Given the description of an element on the screen output the (x, y) to click on. 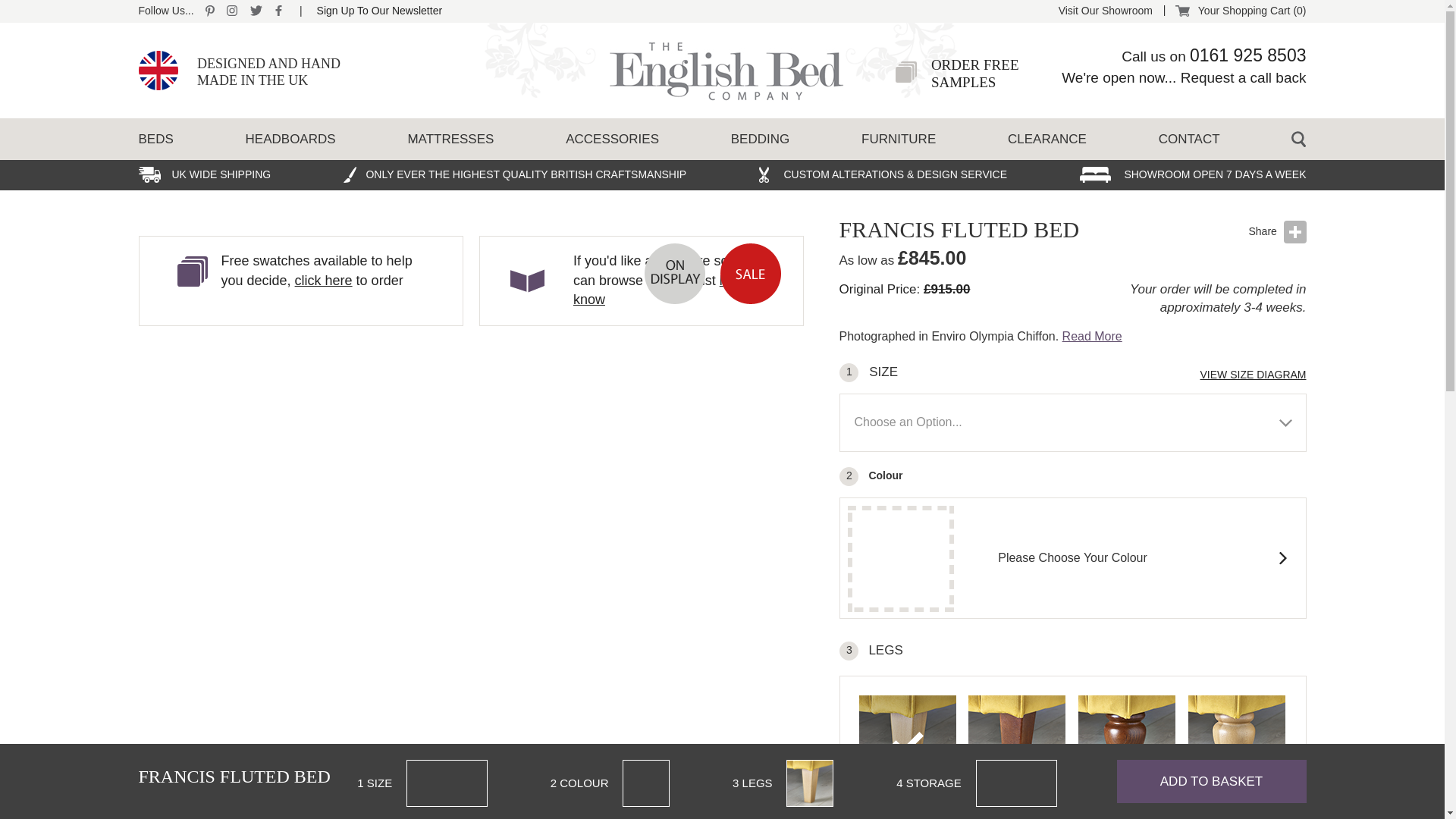
Request a call back (1243, 77)
Visit Our Showroom (1105, 10)
Visit Our Showroom (1105, 10)
Request a call back (1243, 77)
0161 925 8503 (1247, 55)
Order Free Samples (975, 73)
Beds (155, 139)
Sign Up To Our Newsletter (379, 10)
Your Shopping Cart (1240, 10)
HEADBOARDS (291, 139)
Sign Up To Our Newsletter (975, 73)
BEDS (379, 10)
